Given the description of an element on the screen output the (x, y) to click on. 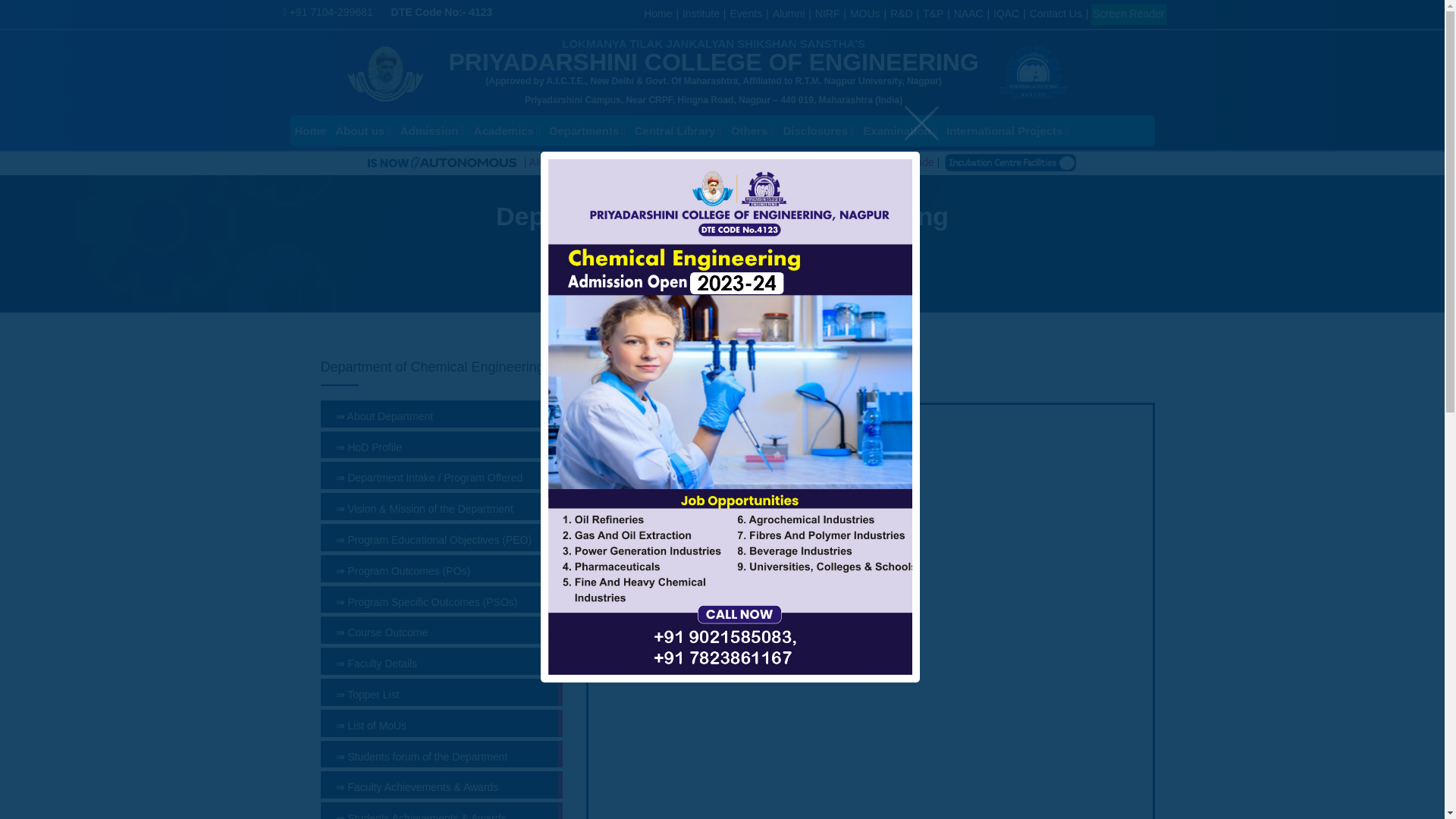
MOUs (865, 13)
Events (745, 13)
Home (657, 13)
Alumni (789, 13)
Admission (432, 130)
IQAC (1005, 13)
NAAC (968, 13)
DTE Code No:- 4123 (442, 11)
Institute (700, 13)
Home (309, 130)
About us (362, 130)
Contact Us (1055, 13)
Academics (506, 130)
NIRF (827, 13)
